Given the description of an element on the screen output the (x, y) to click on. 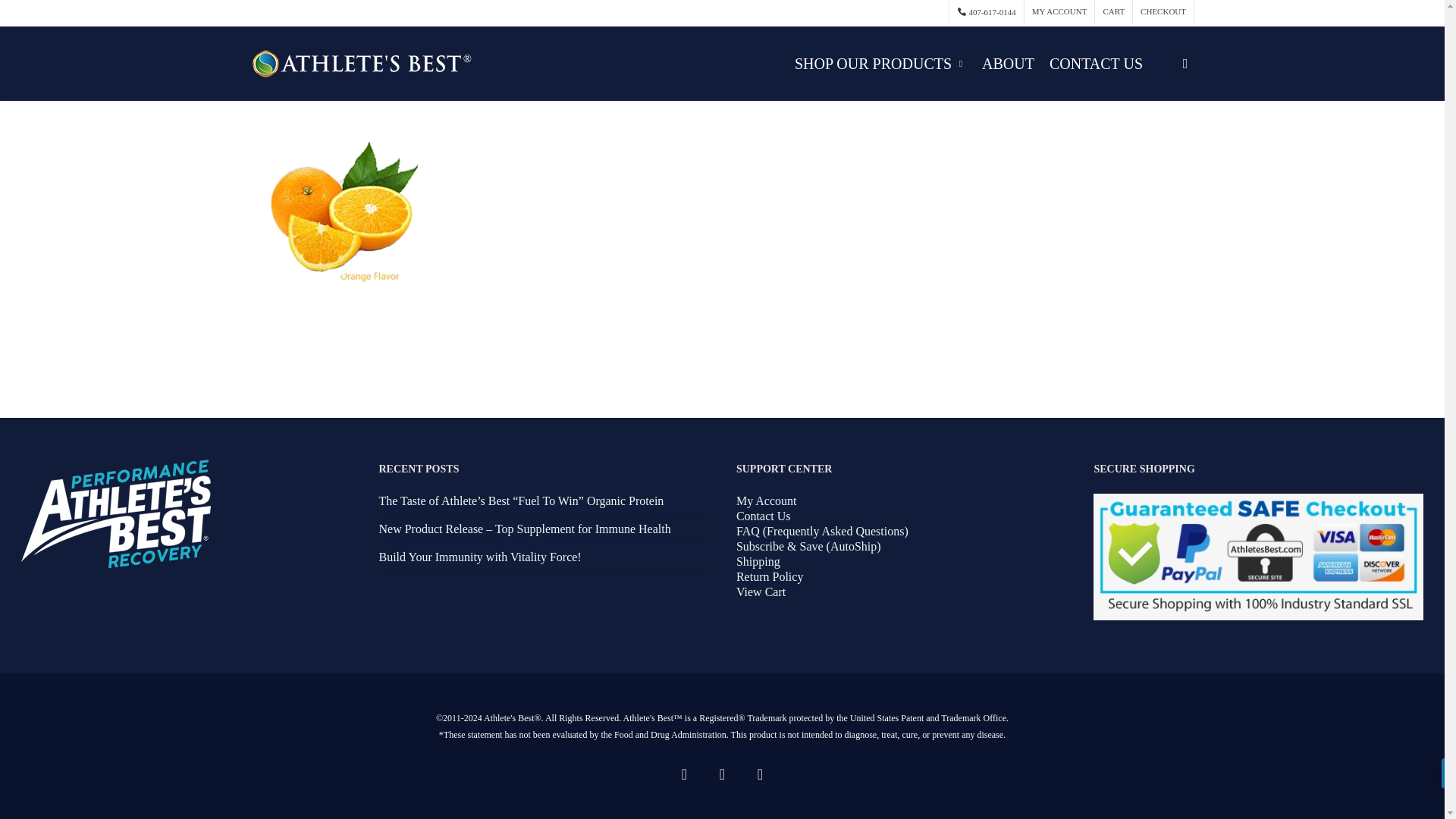
Build Your Immunity with Vitality Force! (479, 556)
MY ACCOUNT (1058, 11)
search (1184, 63)
ABOUT (1008, 63)
CHECKOUT (1162, 11)
RSS (722, 773)
instagram (760, 773)
407-617-0144 (986, 12)
Shipping (758, 561)
CART (1113, 11)
View Cart (761, 591)
CONTACT US (1096, 63)
Return Policy (769, 576)
My Account (766, 500)
Contact Us (763, 515)
